Given the description of an element on the screen output the (x, y) to click on. 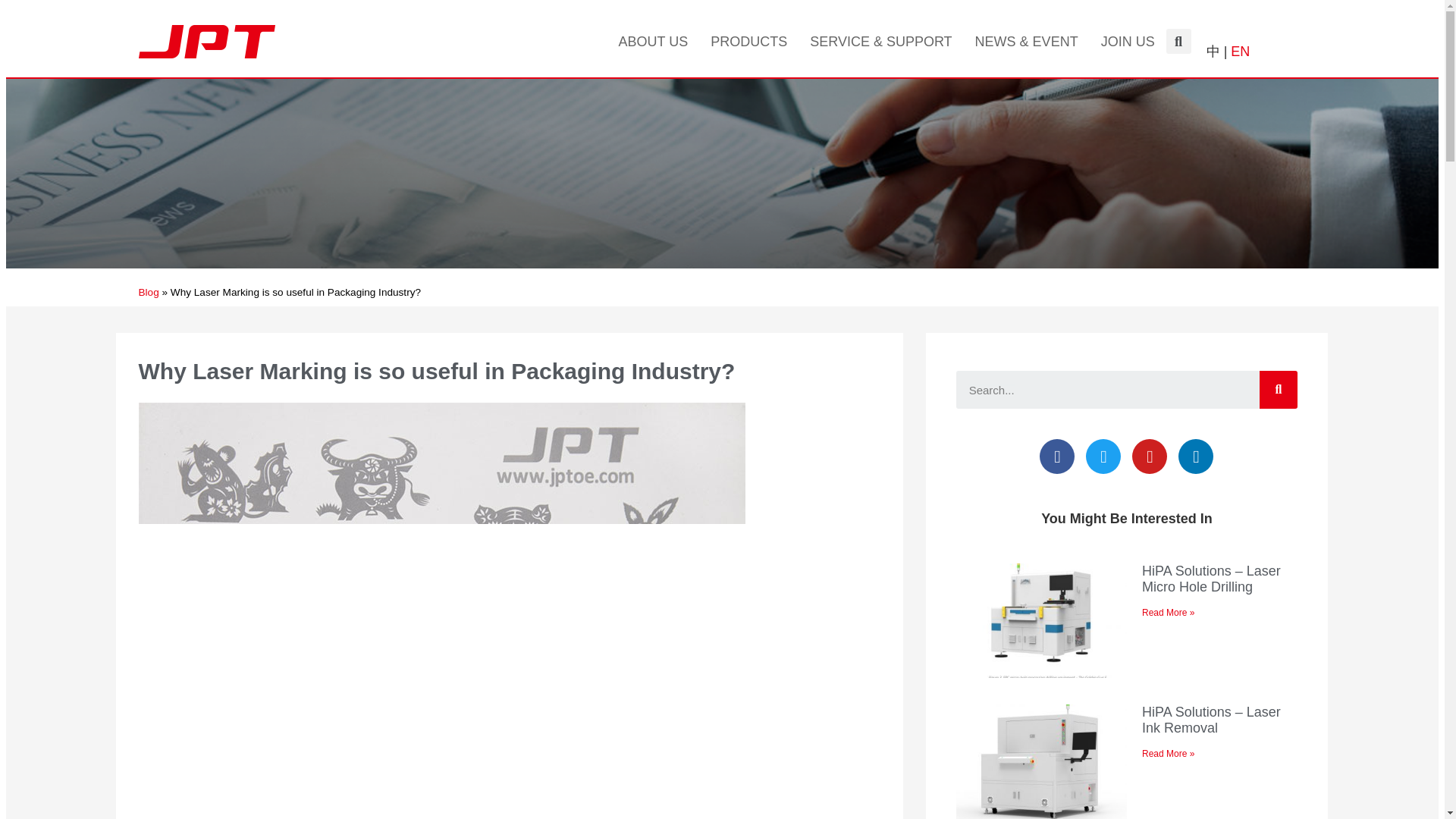
PRODUCTS (747, 40)
Search (1278, 389)
ABOUT US (652, 40)
Search (1107, 389)
